Given the description of an element on the screen output the (x, y) to click on. 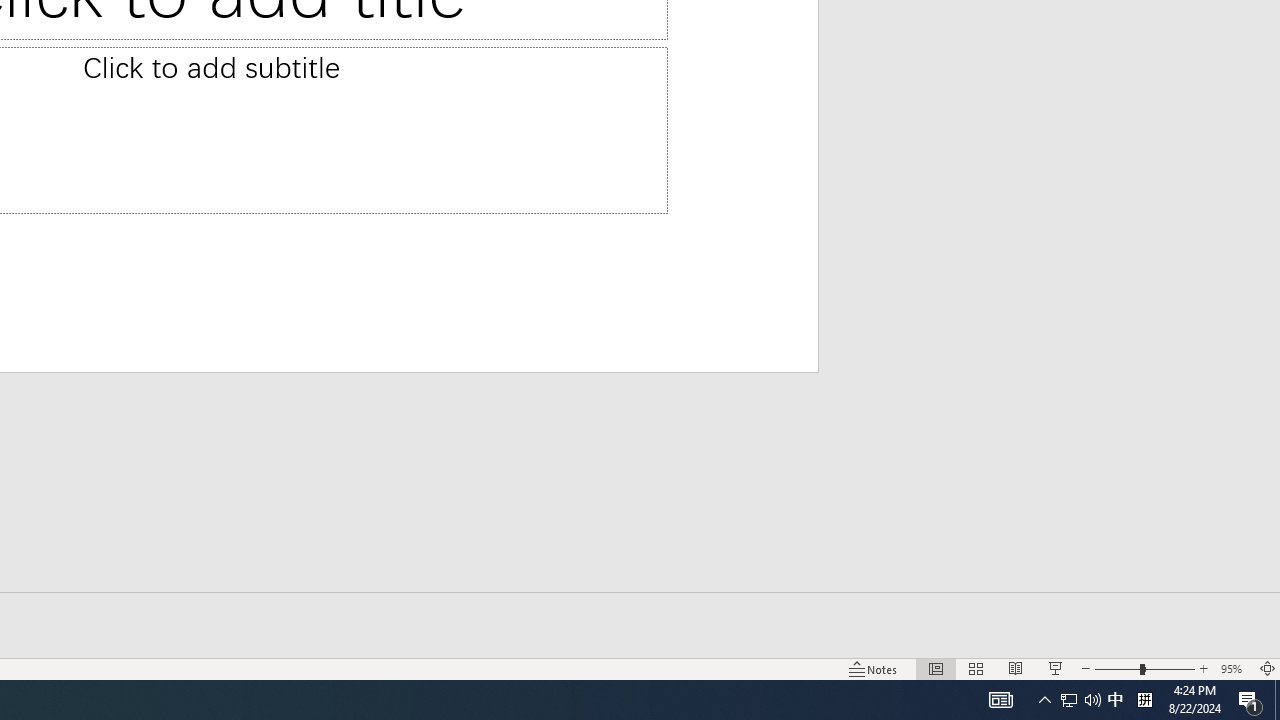
Zoom 95% (1234, 668)
